Given the description of an element on the screen output the (x, y) to click on. 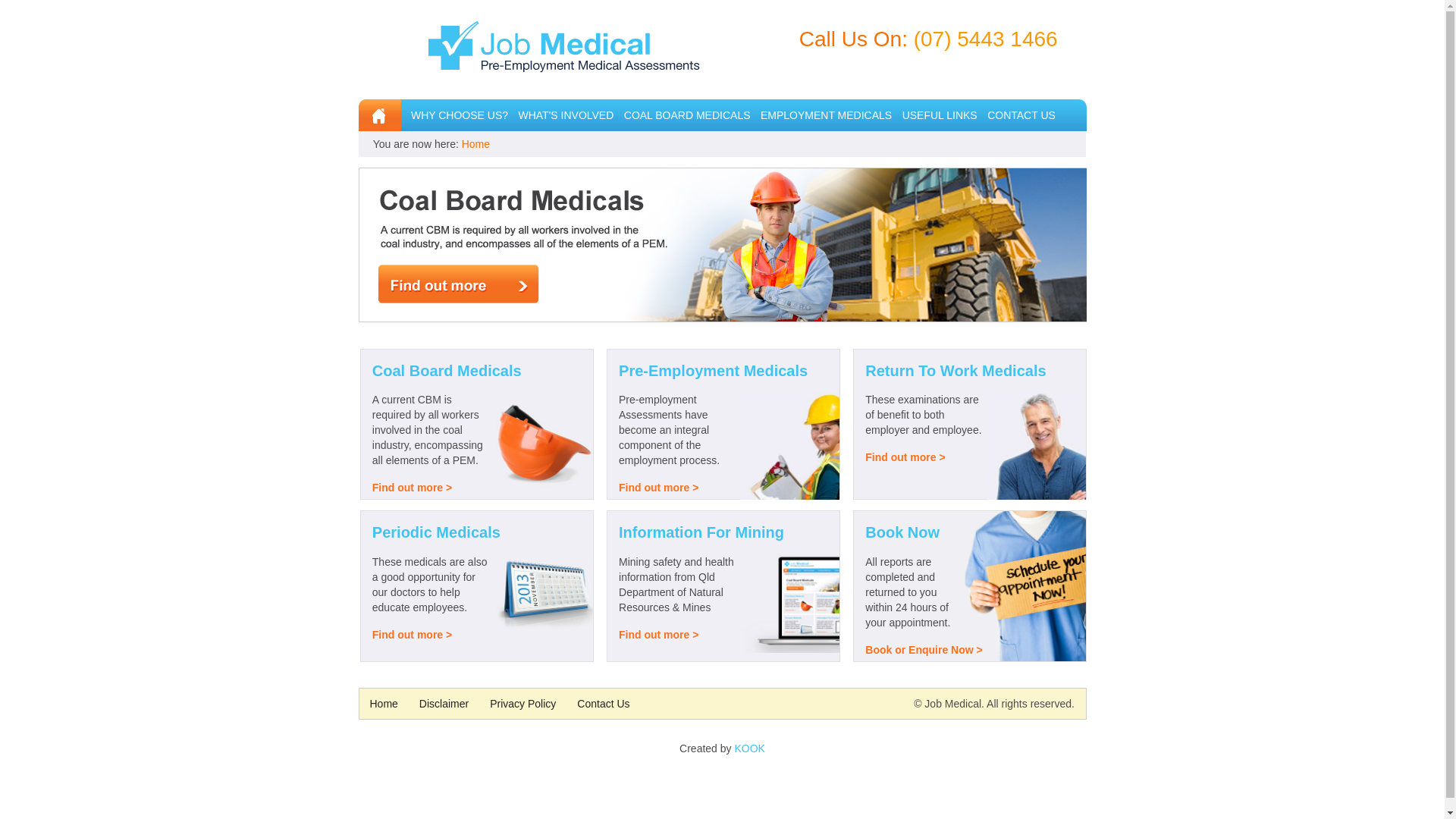
KOOK Element type: text (749, 748)
Home Element type: text (475, 144)
Home Element type: text (384, 703)
Pre-Employment Medicals Element type: text (712, 370)
WHY CHOOSE US? Element type: text (459, 115)
CONTACT US Element type: text (1021, 115)
Return To Work Medicals Element type: text (955, 370)
Find out more > Element type: text (411, 634)
Privacy Policy Element type: text (522, 703)
Find out more > Element type: text (658, 487)
Disclaimer Element type: text (443, 703)
USEFUL LINKS Element type: text (939, 115)
Periodic Medicals Element type: text (436, 532)
HOME Element type: text (378, 115)
COAL BOARD MEDICALS Element type: text (687, 115)
Find out more > Element type: text (904, 457)
Coal Board Medicals Element type: text (446, 370)
Book or Enquire Now > Element type: text (923, 649)
Contact Us Element type: text (603, 703)
WHAT'S INVOLVED Element type: text (565, 115)
Job Medical Element type: hover (564, 56)
Information For Mining Element type: text (701, 532)
Book Now Element type: text (902, 532)
Find out more > Element type: text (658, 634)
Find out more > Element type: text (411, 487)
EMPLOYMENT MEDICALS Element type: text (825, 115)
